Given the description of an element on the screen output the (x, y) to click on. 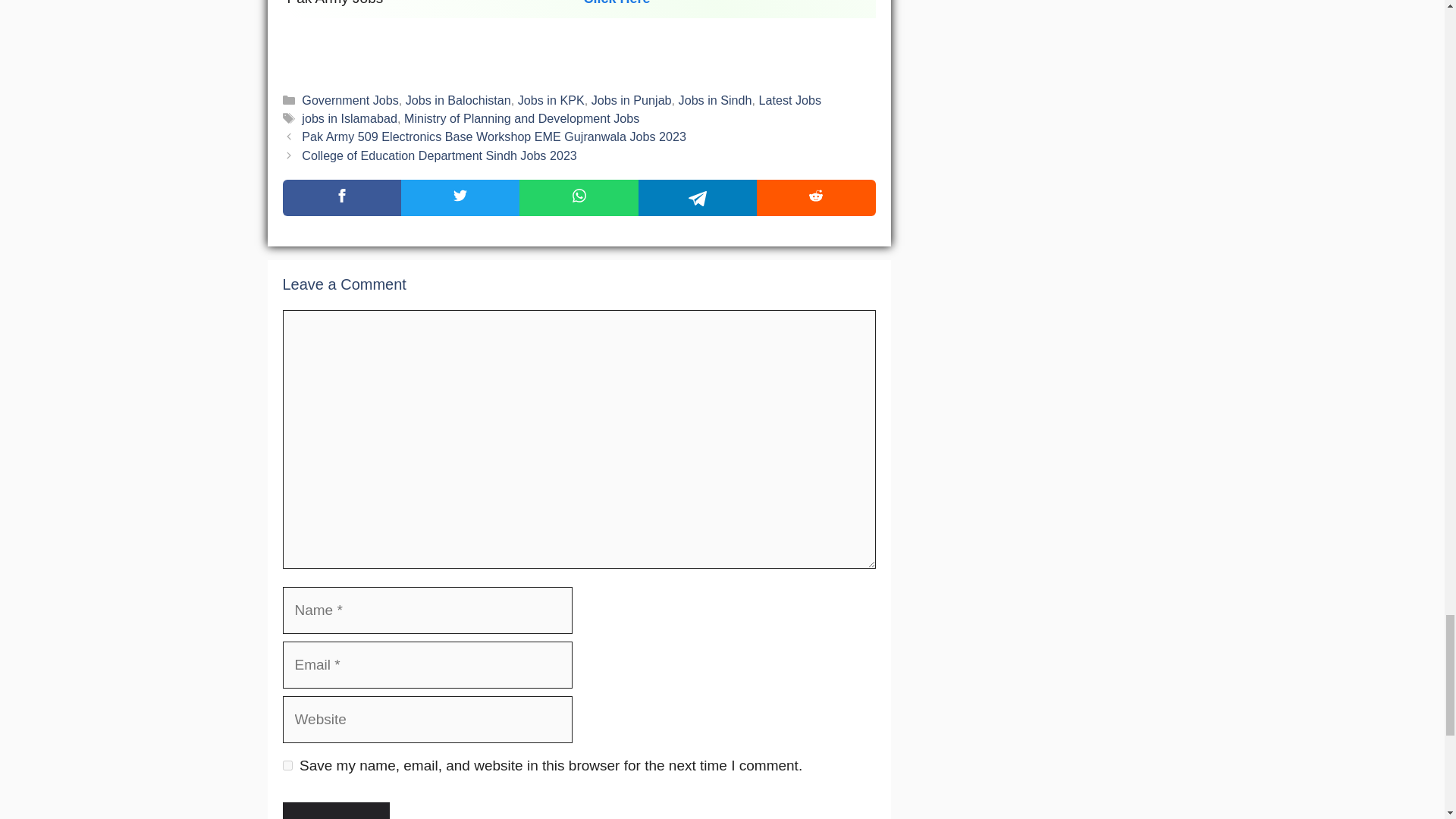
yes (287, 765)
Jobs in Punjab (631, 100)
Post Comment (335, 810)
Click Here (616, 2)
Jobs in Balochistan (458, 100)
Government Jobs (349, 100)
Jobs in KPK (551, 100)
Jobs in Sindh (715, 100)
